Given the description of an element on the screen output the (x, y) to click on. 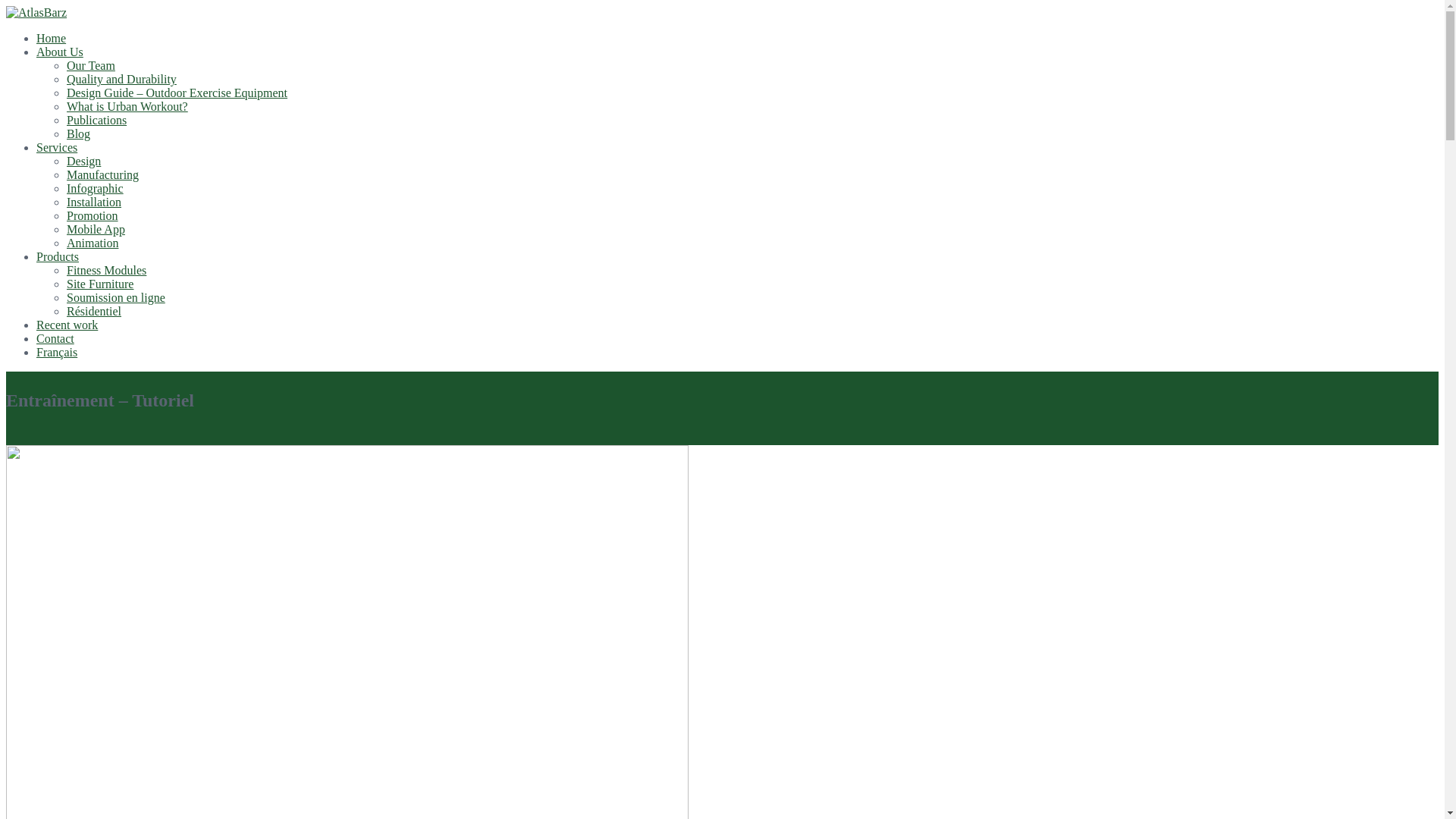
AtlasBarz Element type: hover (36, 12)
Manufacturing Element type: text (102, 174)
Our Team Element type: text (90, 65)
Blog Element type: text (78, 133)
Products Element type: text (57, 256)
Soumission en ligne Element type: text (115, 297)
Animation Element type: text (92, 242)
Promotion Element type: text (92, 215)
Design Element type: text (83, 160)
Publications Element type: text (96, 119)
Mobile App Element type: text (95, 228)
Quality and Durability Element type: text (121, 78)
Contact Element type: text (55, 338)
Fitness Modules Element type: text (106, 269)
Home Element type: text (50, 37)
Services Element type: text (56, 147)
About Us Element type: text (59, 51)
Site Furniture Element type: text (99, 283)
What is Urban Workout? Element type: text (127, 106)
Infographic Element type: text (94, 188)
Recent work Element type: text (66, 324)
Installation Element type: text (93, 201)
